Given the description of an element on the screen output the (x, y) to click on. 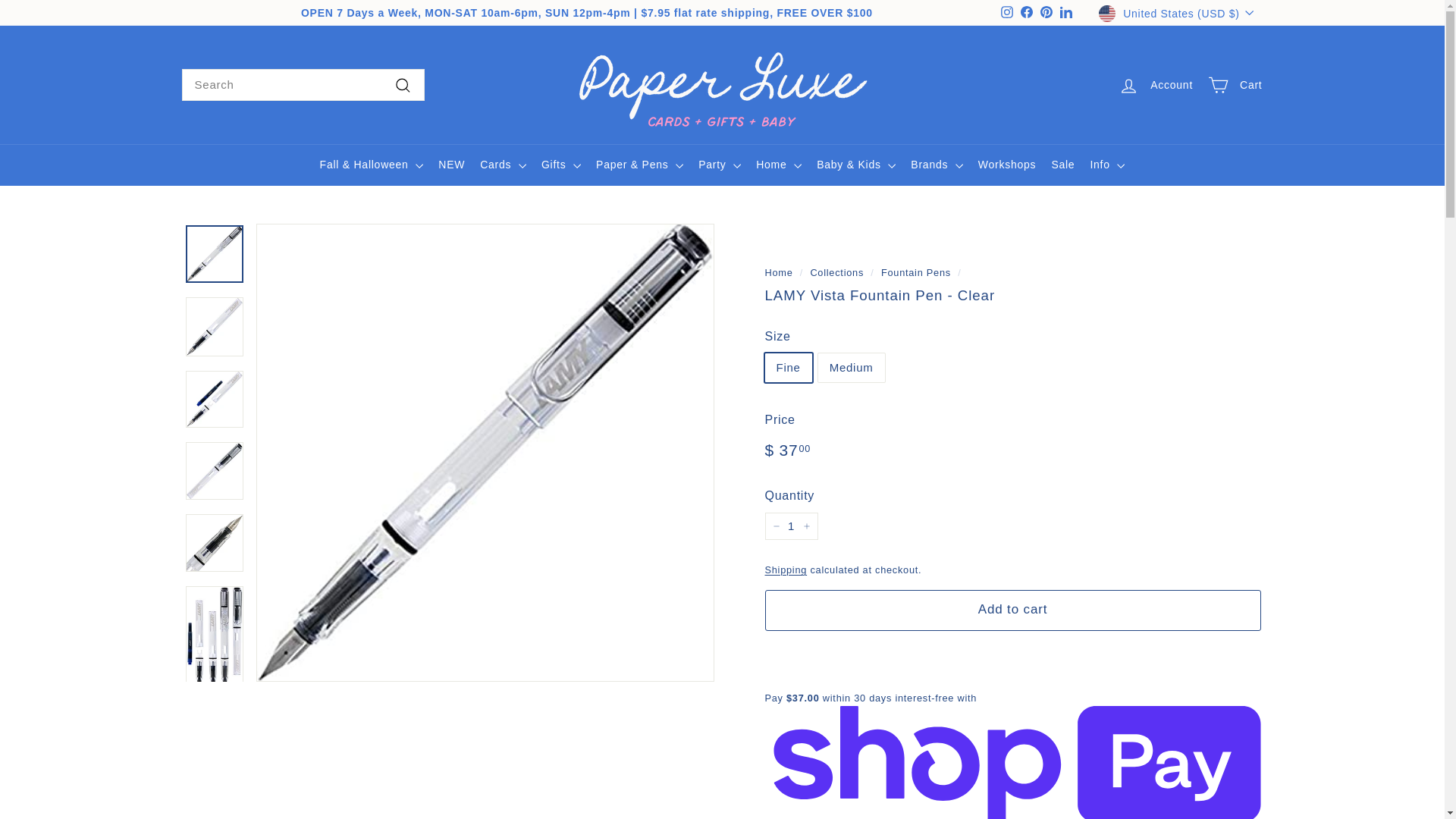
1 (790, 525)
instagram (1007, 11)
Account (1154, 85)
Back to the frontpage (778, 272)
Cart (1234, 85)
